Given the description of an element on the screen output the (x, y) to click on. 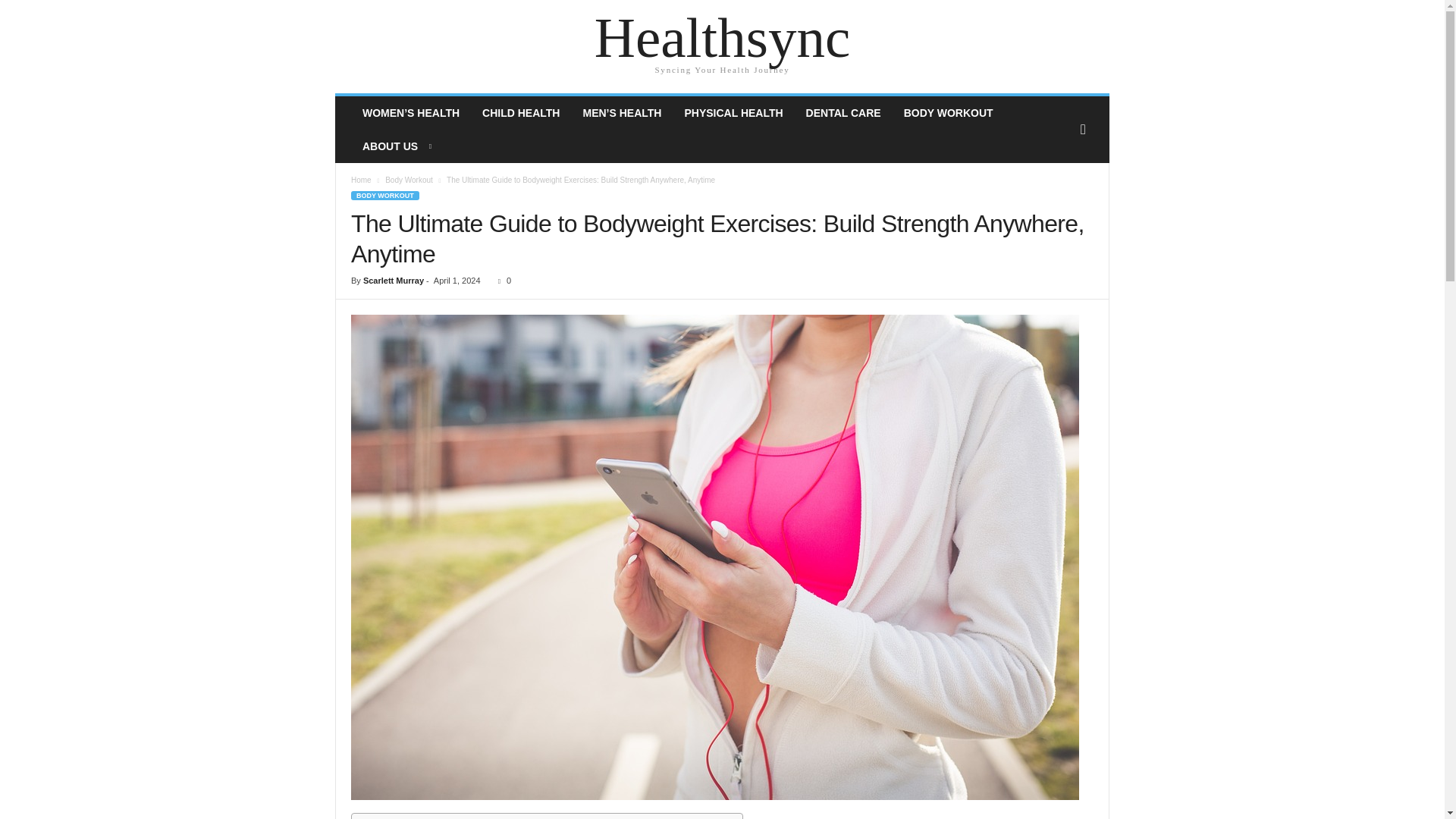
BODY WORKOUT (384, 194)
CHILD HEALTH (520, 112)
Scarlett Murray (392, 280)
Healthsync (721, 38)
0 (501, 280)
View all posts in Body Workout (408, 180)
ABOUT US (395, 145)
Home (360, 180)
DENTAL CARE (843, 112)
BODY WORKOUT (948, 112)
